Given the description of an element on the screen output the (x, y) to click on. 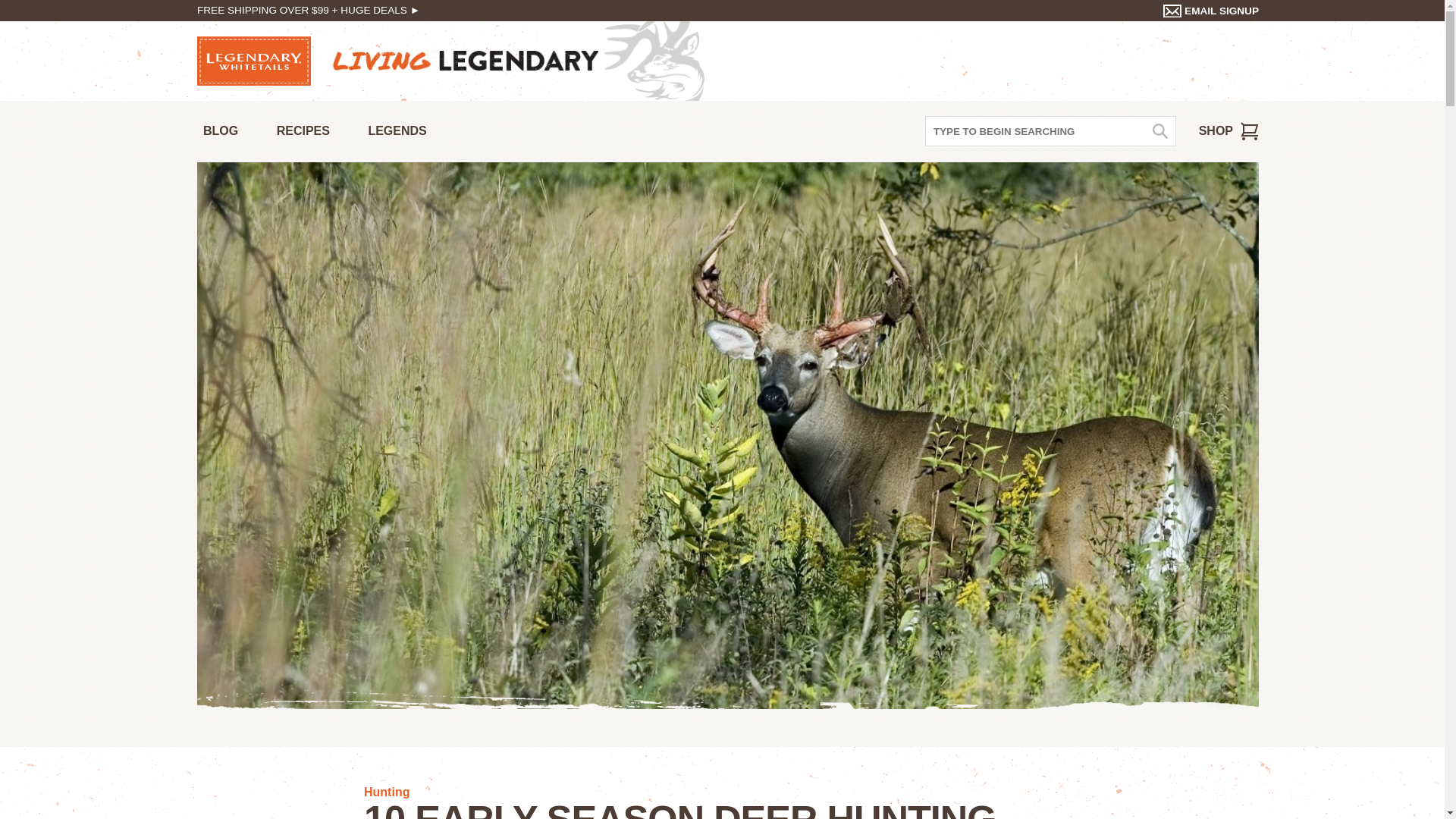
BLOG (220, 131)
RECIPES (303, 131)
SHOP (1228, 131)
EMAIL SIGNUP (1211, 10)
LEGENDS (396, 131)
